Given the description of an element on the screen output the (x, y) to click on. 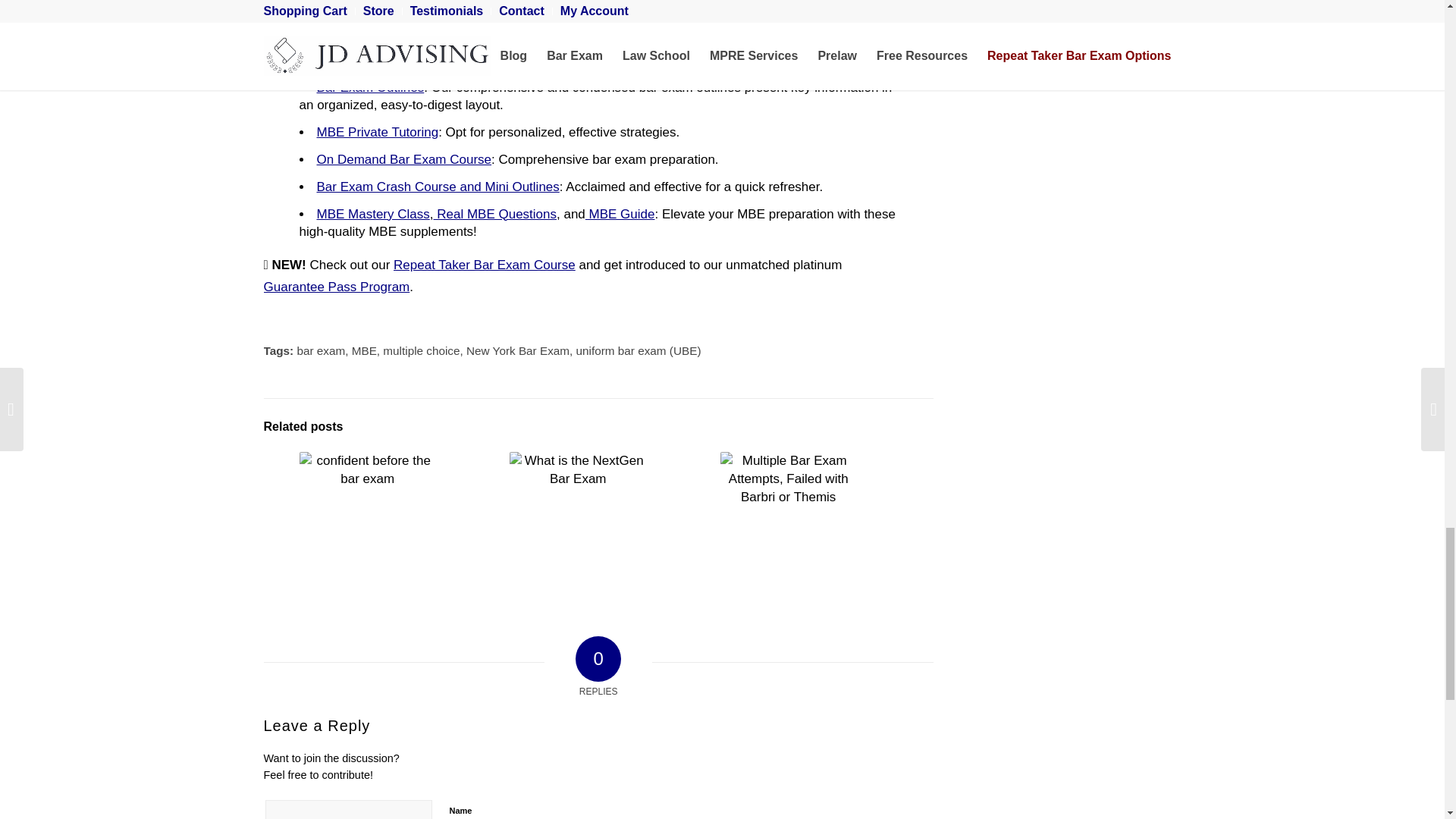
What is the NextGen Bar Exam? (577, 520)
confident before the bar exam (367, 520)
What is the NextGen Bar Exam (577, 520)
Failed with Barbri or Themis: What Should I Do Differently? (787, 503)
How Do I Feel More Confident Before the Bar Exam? (367, 520)
